Given the description of an element on the screen output the (x, y) to click on. 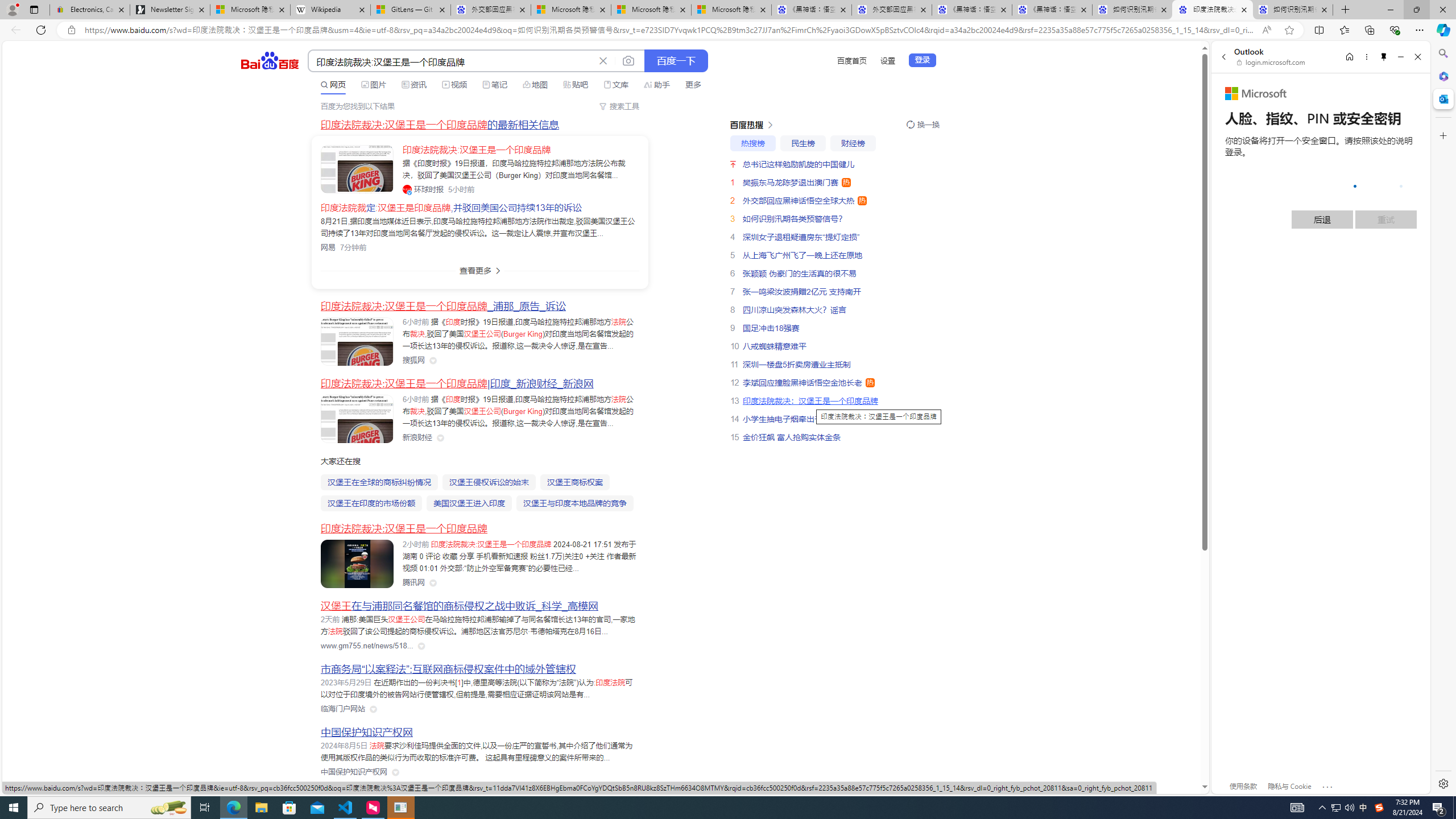
AutomationID: kw (451, 61)
Unpin side pane (1383, 56)
